Given the description of an element on the screen output the (x, y) to click on. 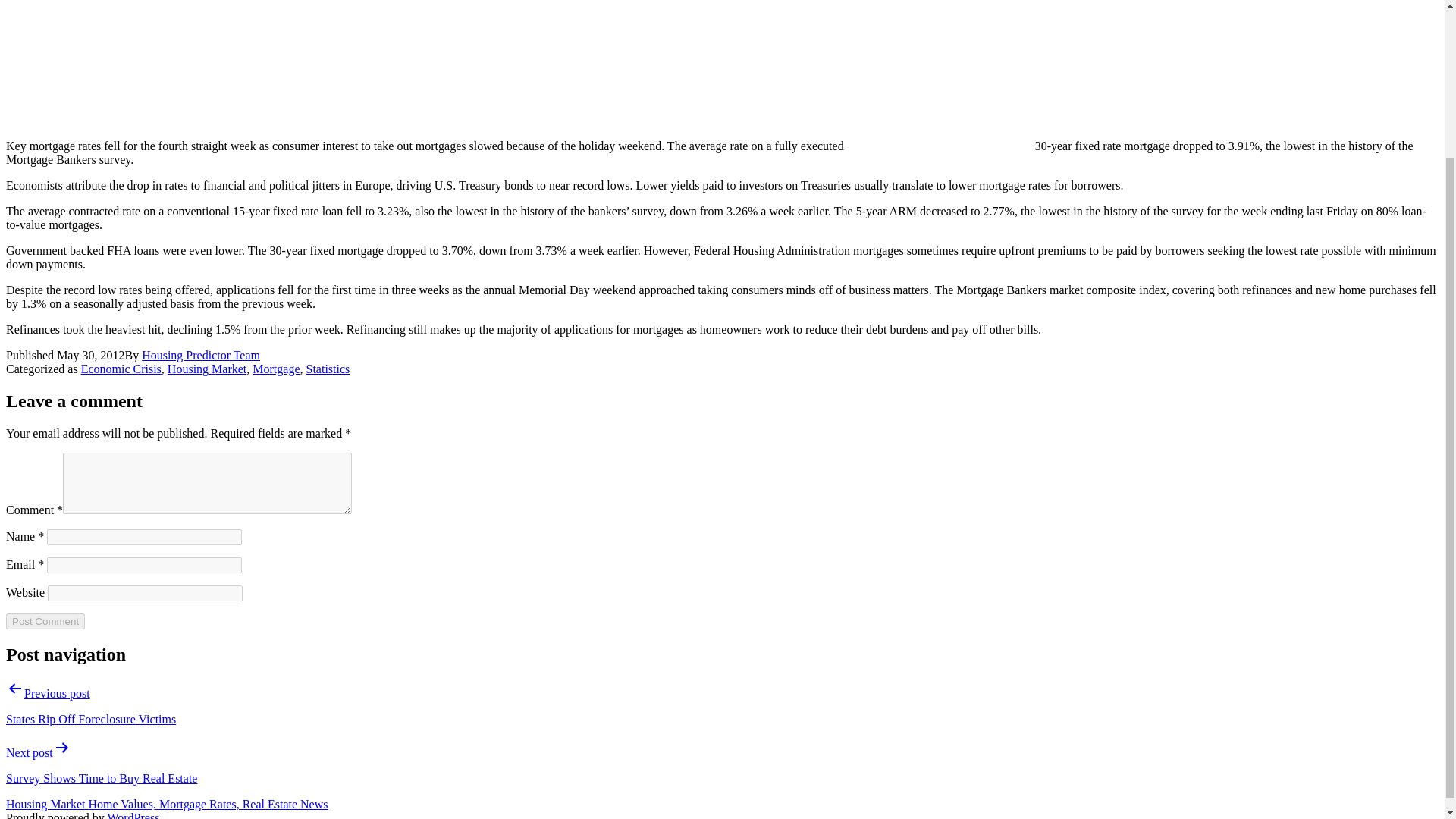
Housing Predictor Team (200, 354)
Post Comment (44, 621)
Post Comment (44, 621)
Statistics (327, 368)
Housing Market Home Values, Mortgage Rates, Real Estate News (167, 803)
Economic Crisis (121, 368)
Housing Market (206, 368)
Mortgage (275, 368)
